Given the description of an element on the screen output the (x, y) to click on. 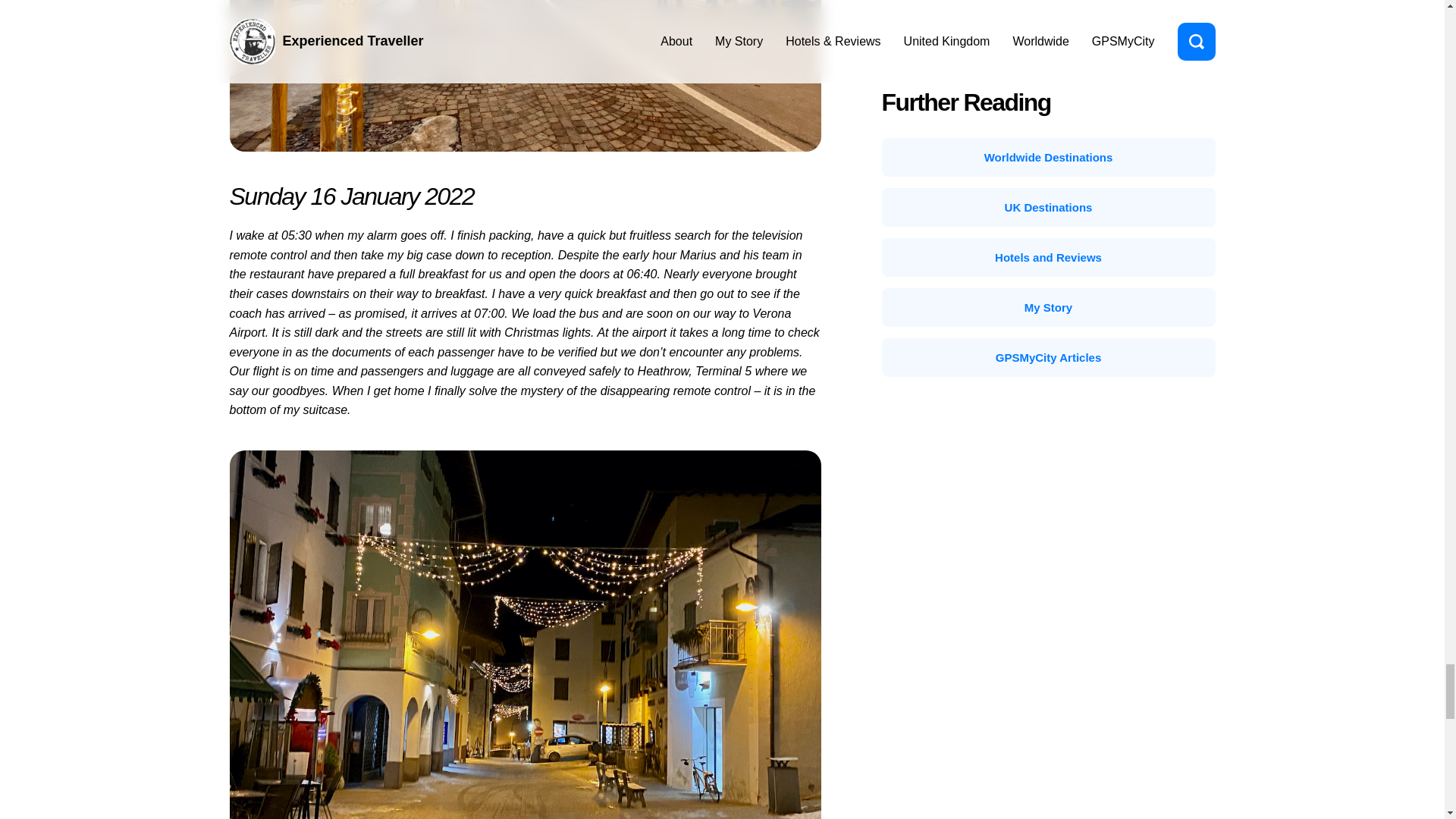
An Evening Stroll in Folgaria, Italy (524, 75)
